Given the description of an element on the screen output the (x, y) to click on. 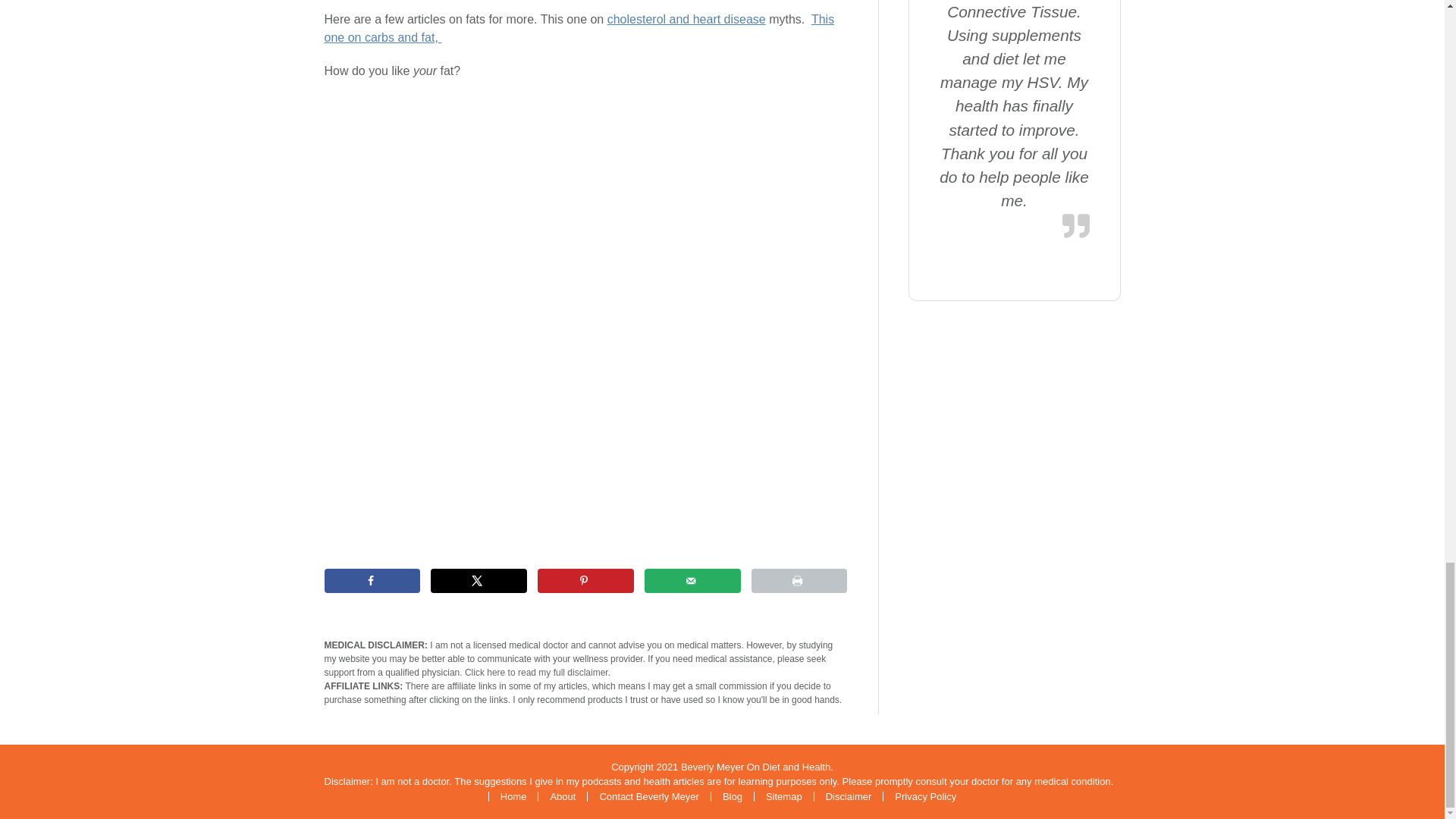
Share on Facebook (372, 580)
Print this webpage (799, 580)
Share on X (478, 580)
cholesterol and heart disease (686, 19)
This one on carbs and fat,  (579, 28)
Save to Pinterest (585, 580)
Contact Beverly Meyer (648, 796)
Send over email (693, 580)
